Given the description of an element on the screen output the (x, y) to click on. 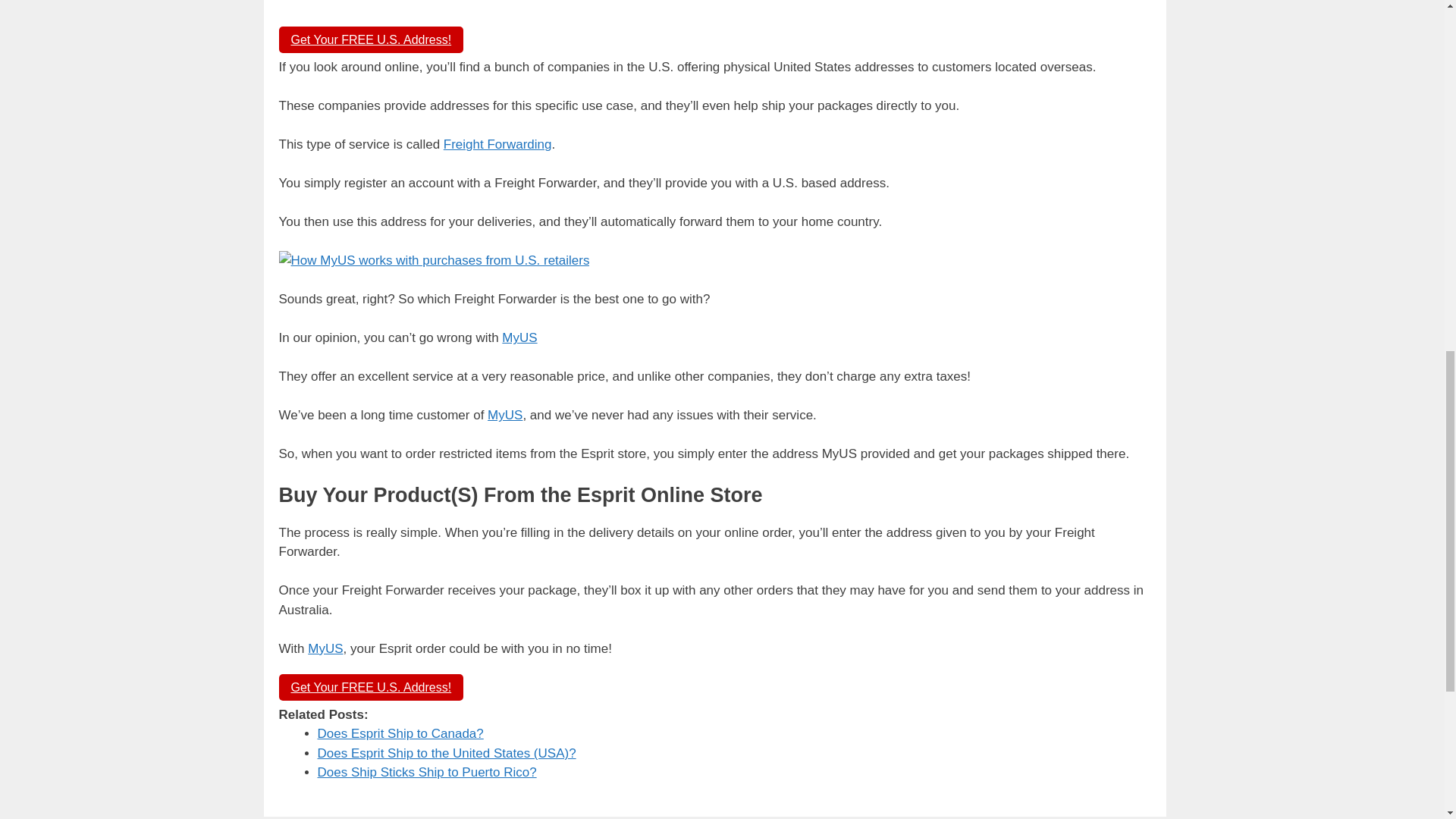
Does Esprit Ship to Canada? (400, 733)
MyUS (519, 337)
Get Your FREE U.S. Address! (371, 39)
MyUS (504, 414)
MyUS (324, 648)
Freight Forwarding (497, 144)
Does Ship Sticks Ship to Puerto Rico? (426, 771)
Get Your FREE U.S. Address! (371, 687)
